Given the description of an element on the screen output the (x, y) to click on. 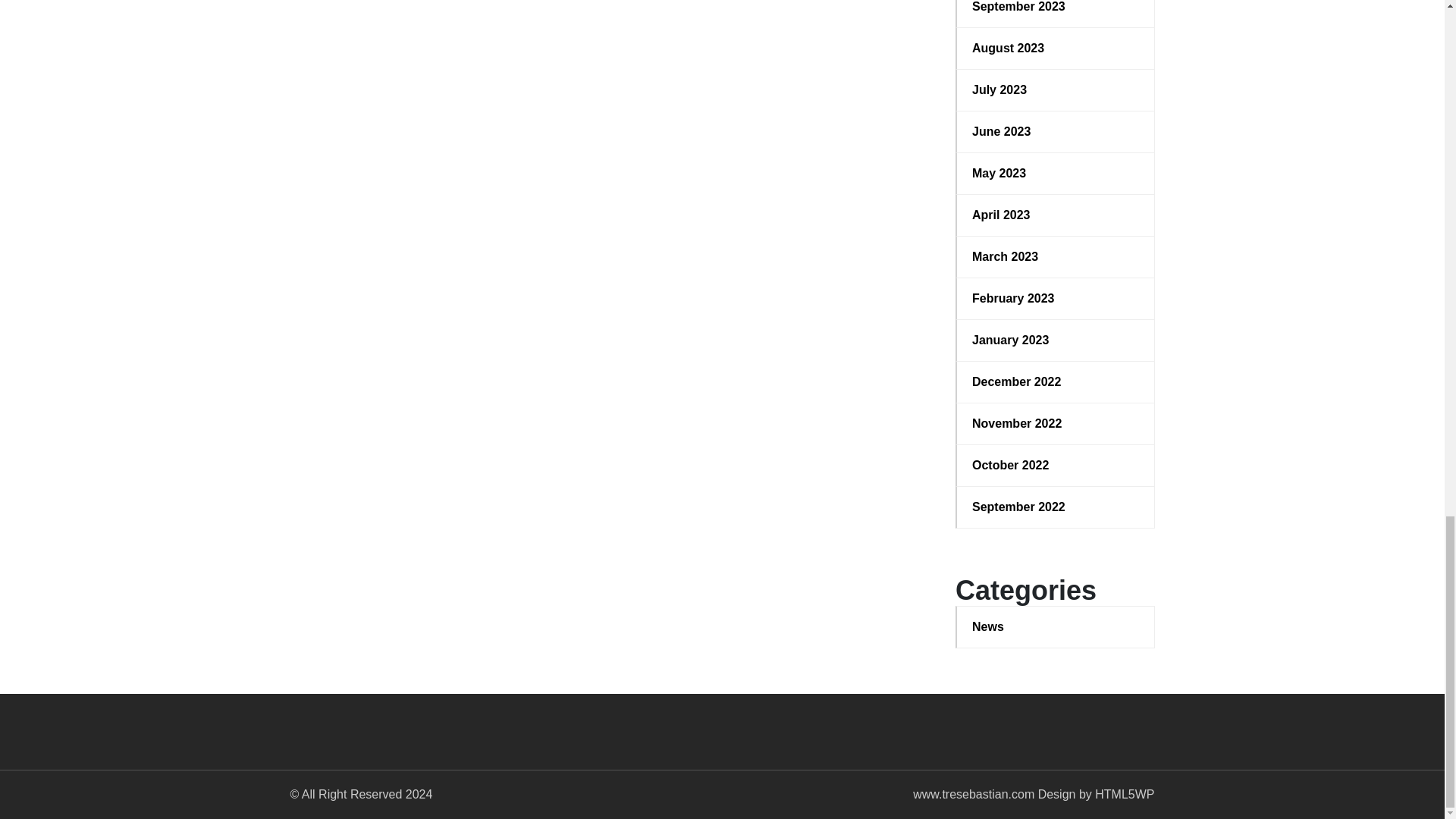
July 2023 (1055, 90)
January 2023 (1055, 340)
December 2022 (1055, 382)
November 2022 (1055, 423)
April 2023 (1055, 215)
August 2023 (1055, 48)
February 2023 (1055, 298)
September 2023 (1055, 7)
June 2023 (1055, 131)
March 2023 (1055, 257)
October 2022 (1055, 465)
May 2023 (1055, 173)
